Given the description of an element on the screen output the (x, y) to click on. 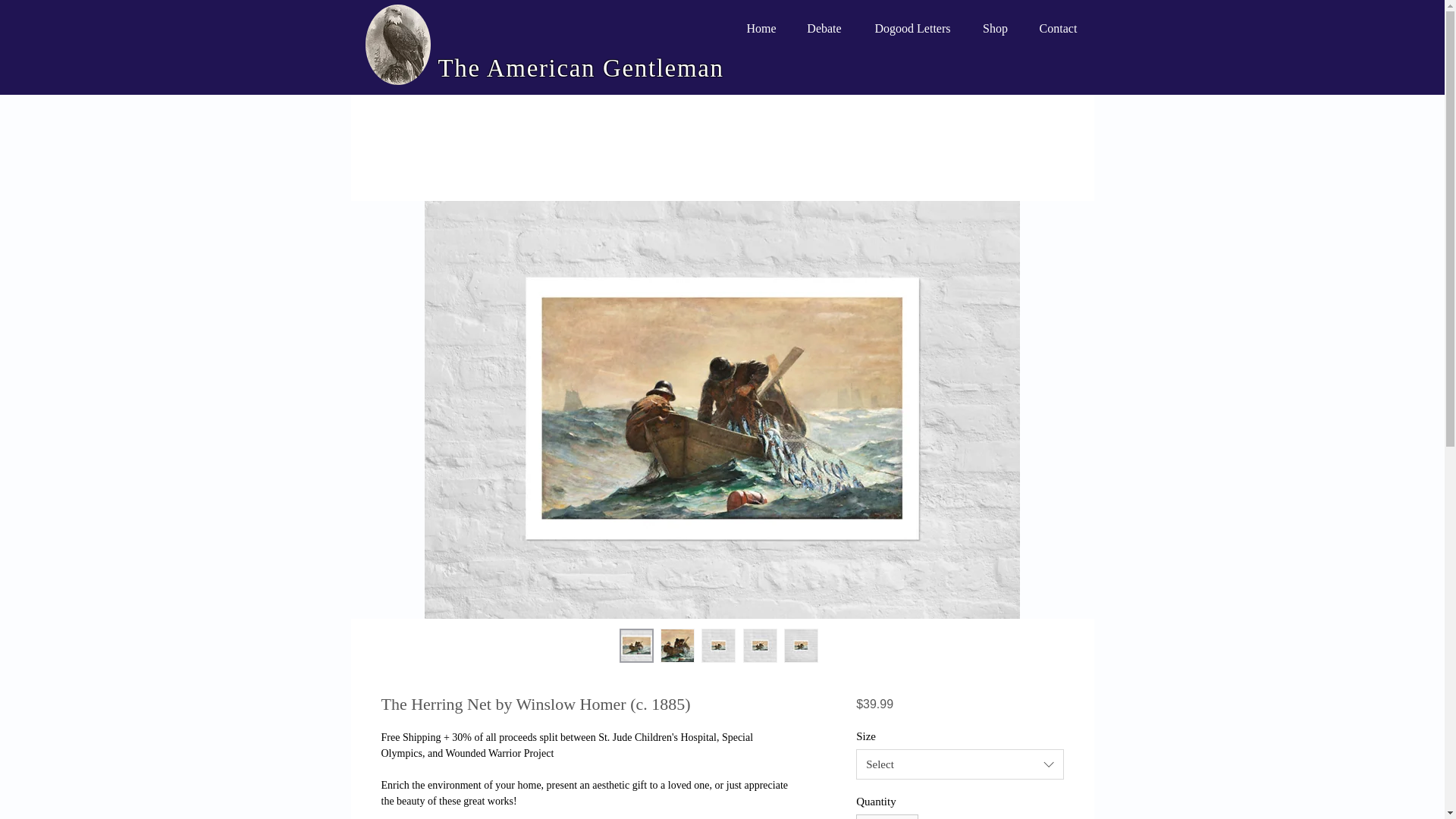
1 (887, 816)
Contact (1057, 22)
Home (760, 22)
Shop (995, 22)
Debate (824, 22)
The American Gentleman (580, 67)
Dogood Letters (912, 22)
Select (959, 764)
